Given the description of an element on the screen output the (x, y) to click on. 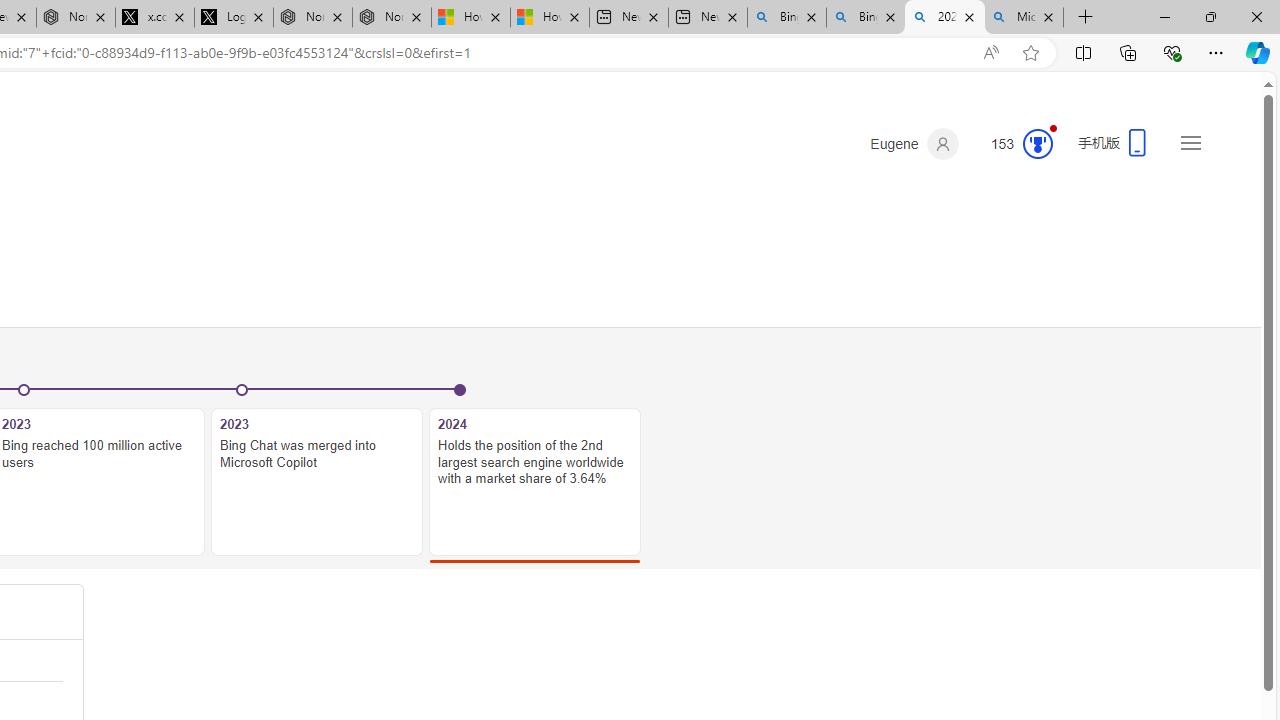
Microsoft Bing Timeline - Search (1023, 17)
x.com/NordaceOfficial (155, 17)
Bing AI - Search (865, 17)
Log in to X / X (233, 17)
2023 Bing Chat was merged into Microsoft Copilot (317, 481)
Settings and quick links (1190, 142)
